Given the description of an element on the screen output the (x, y) to click on. 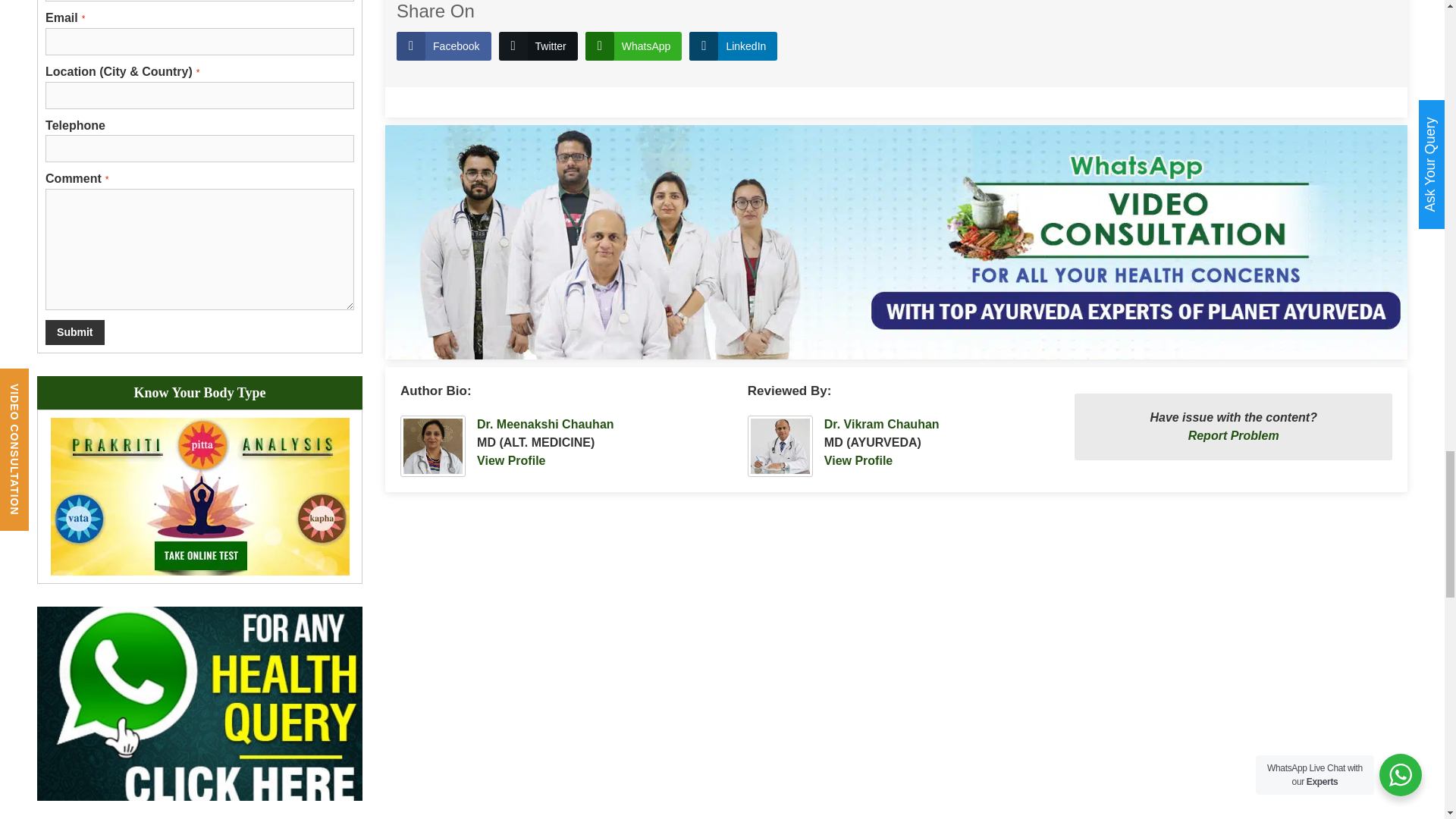
Submit (74, 332)
